Given the description of an element on the screen output the (x, y) to click on. 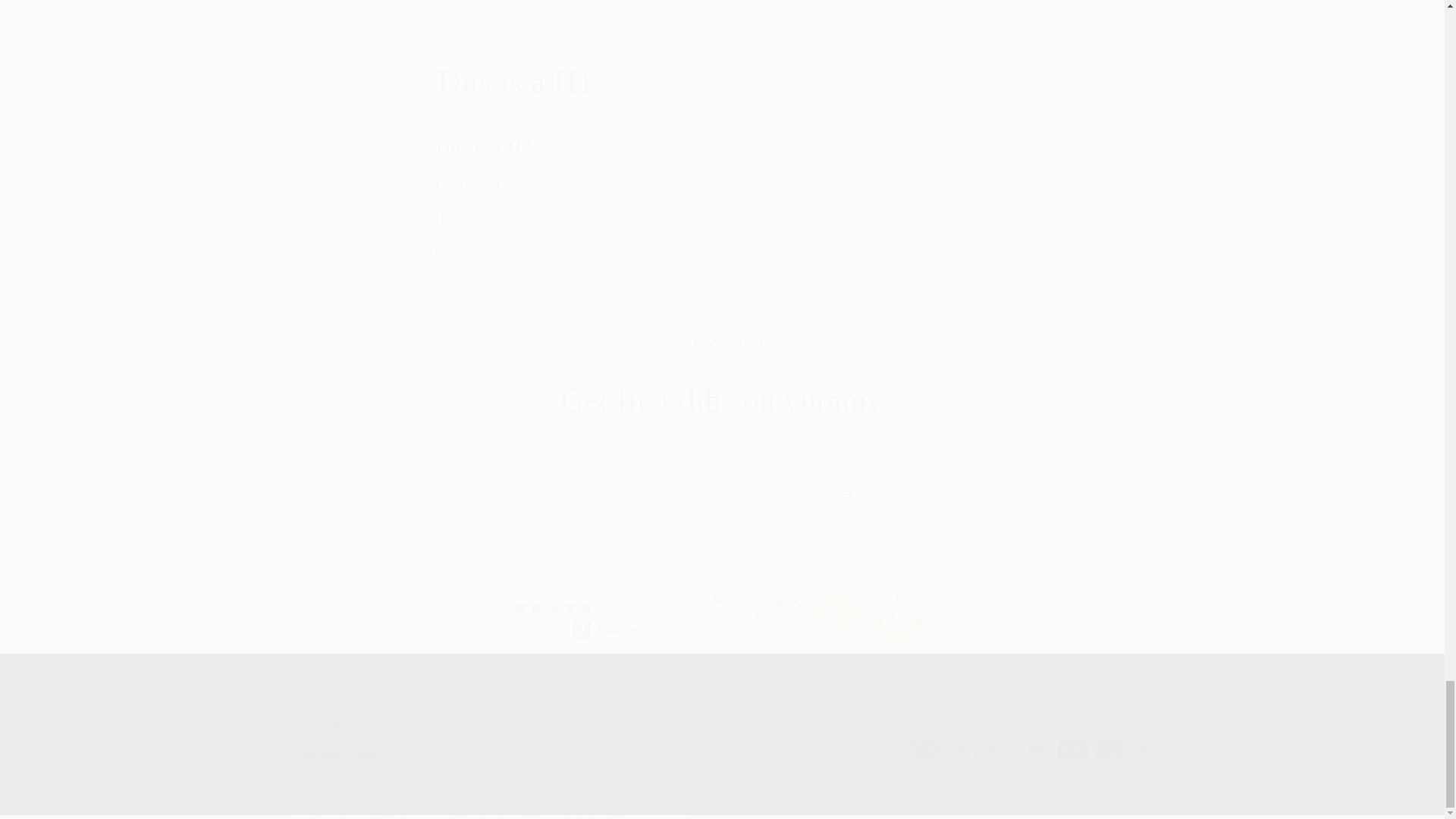
Get first dibs on yummy (721, 619)
Email (722, 400)
